Given the description of an element on the screen output the (x, y) to click on. 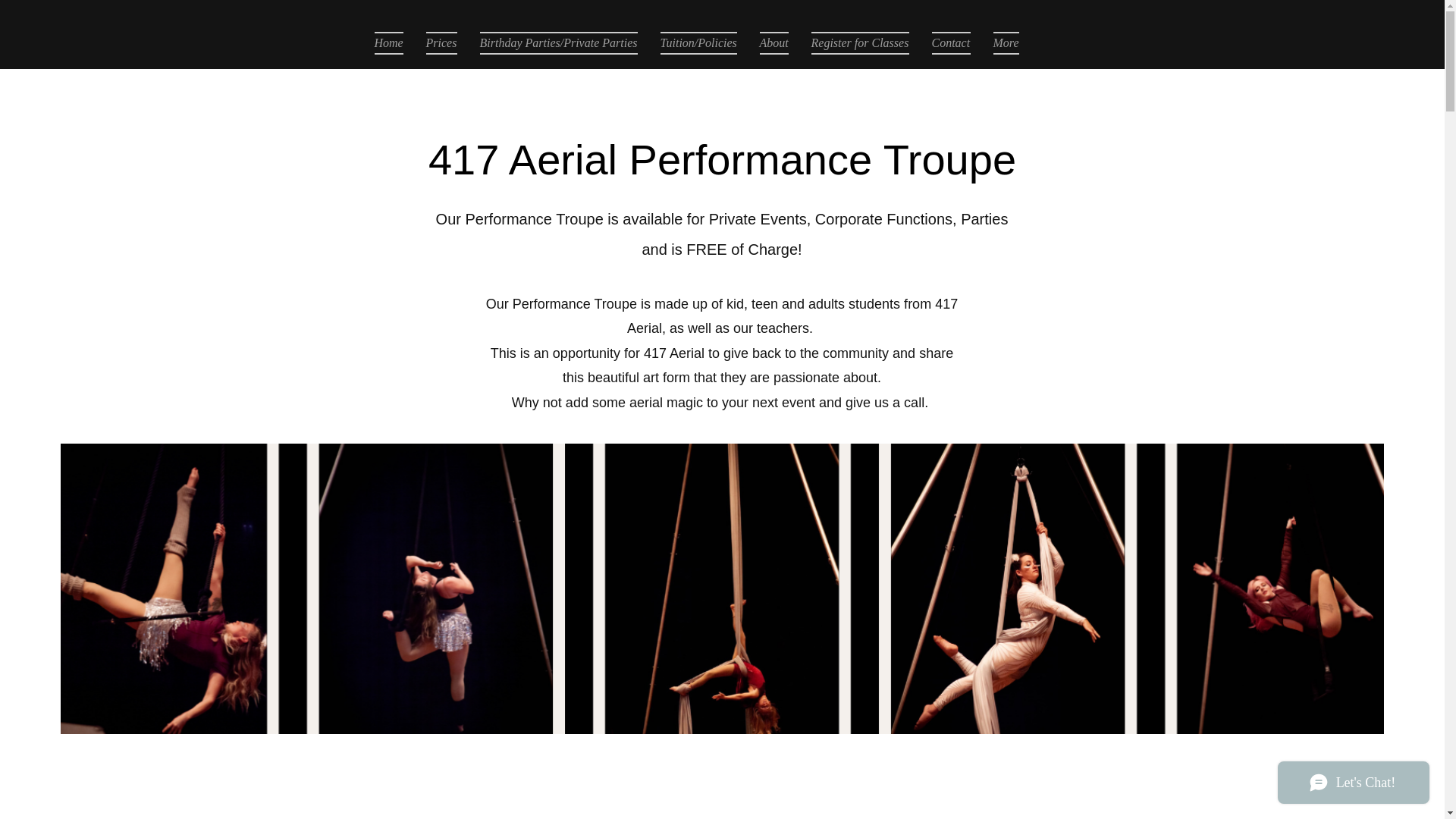
Register for Classes (859, 42)
Prices (440, 42)
Contact (950, 42)
Home (394, 42)
About (773, 42)
